Given the description of an element on the screen output the (x, y) to click on. 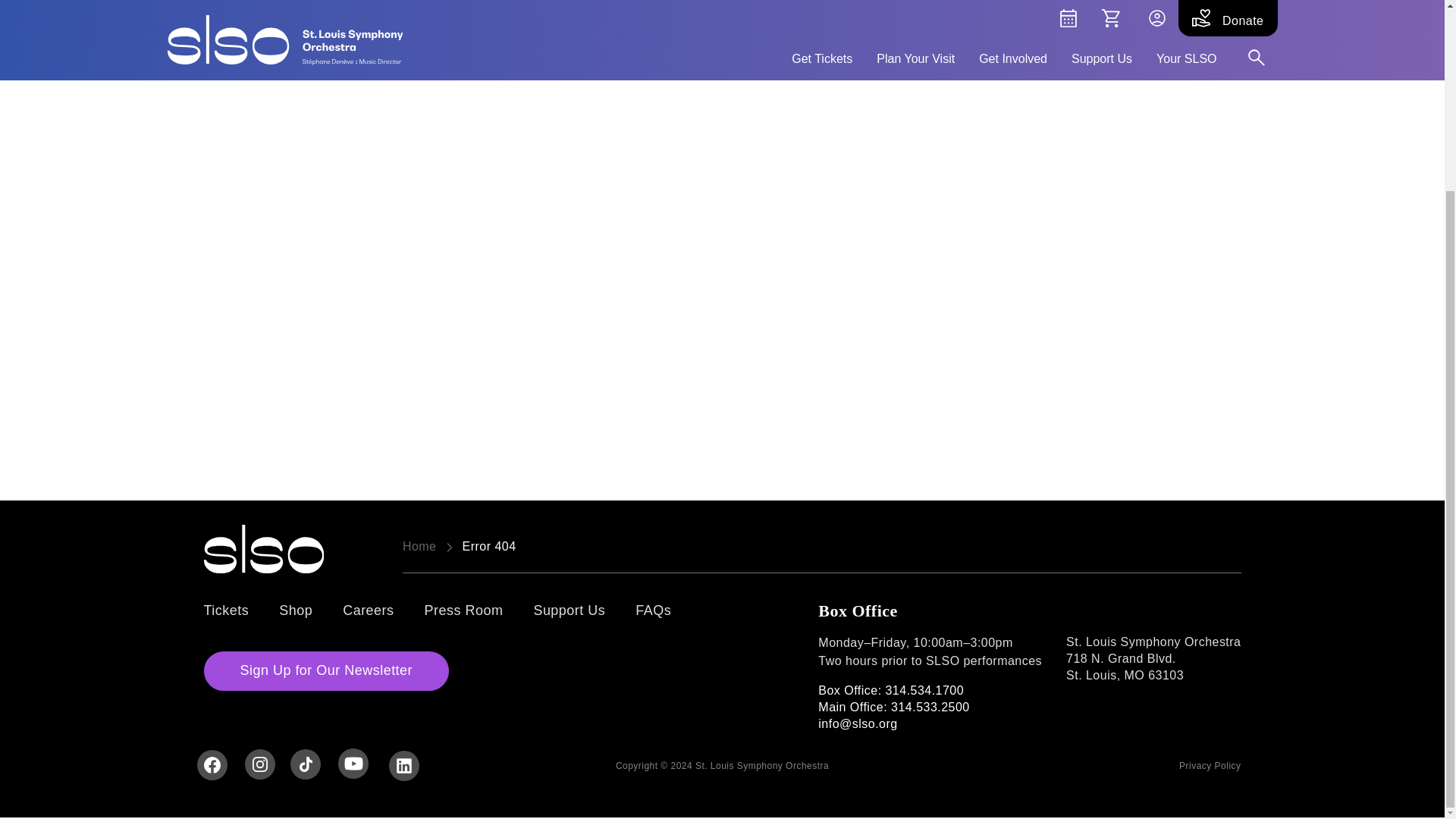
Follow us on Facebook (211, 764)
Follow us on Instagram (258, 764)
View Events (1399, 519)
Follow us on Linkedin (403, 765)
Follow us on YouTube (352, 763)
